Given the description of an element on the screen output the (x, y) to click on. 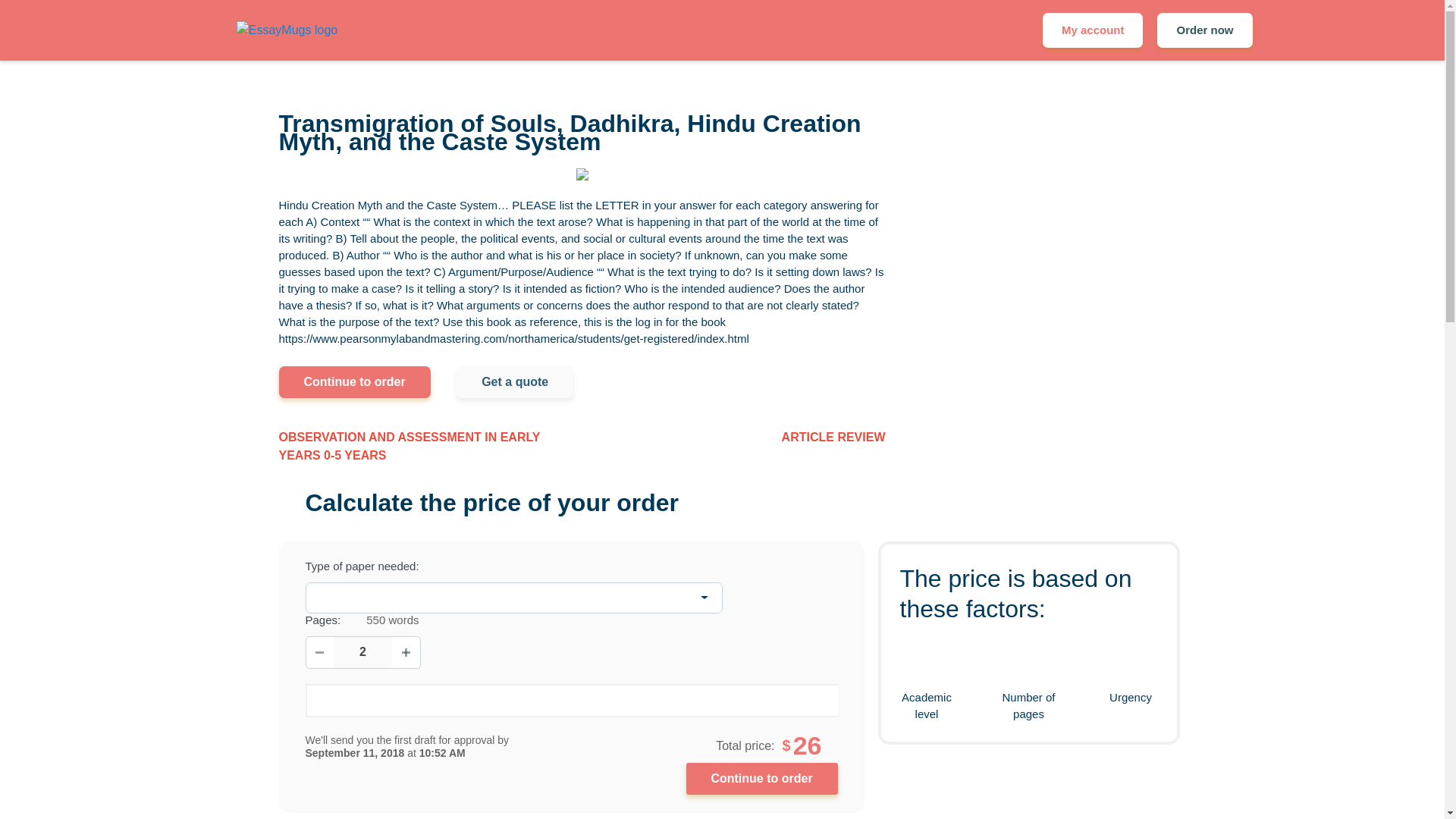
Order now (1204, 30)
Continue to order (761, 778)
2 (362, 652)
My account (1092, 30)
Decrease (319, 652)
Continue to order (354, 382)
Increase (405, 652)
ARTICLE REVIEW (833, 437)
Get a quote (515, 382)
OBSERVATION AND ASSESSMENT IN EARLY YEARS 0-5 YEARS (430, 446)
Continue to Order (761, 778)
Continue to order (761, 778)
